Given the description of an element on the screen output the (x, y) to click on. 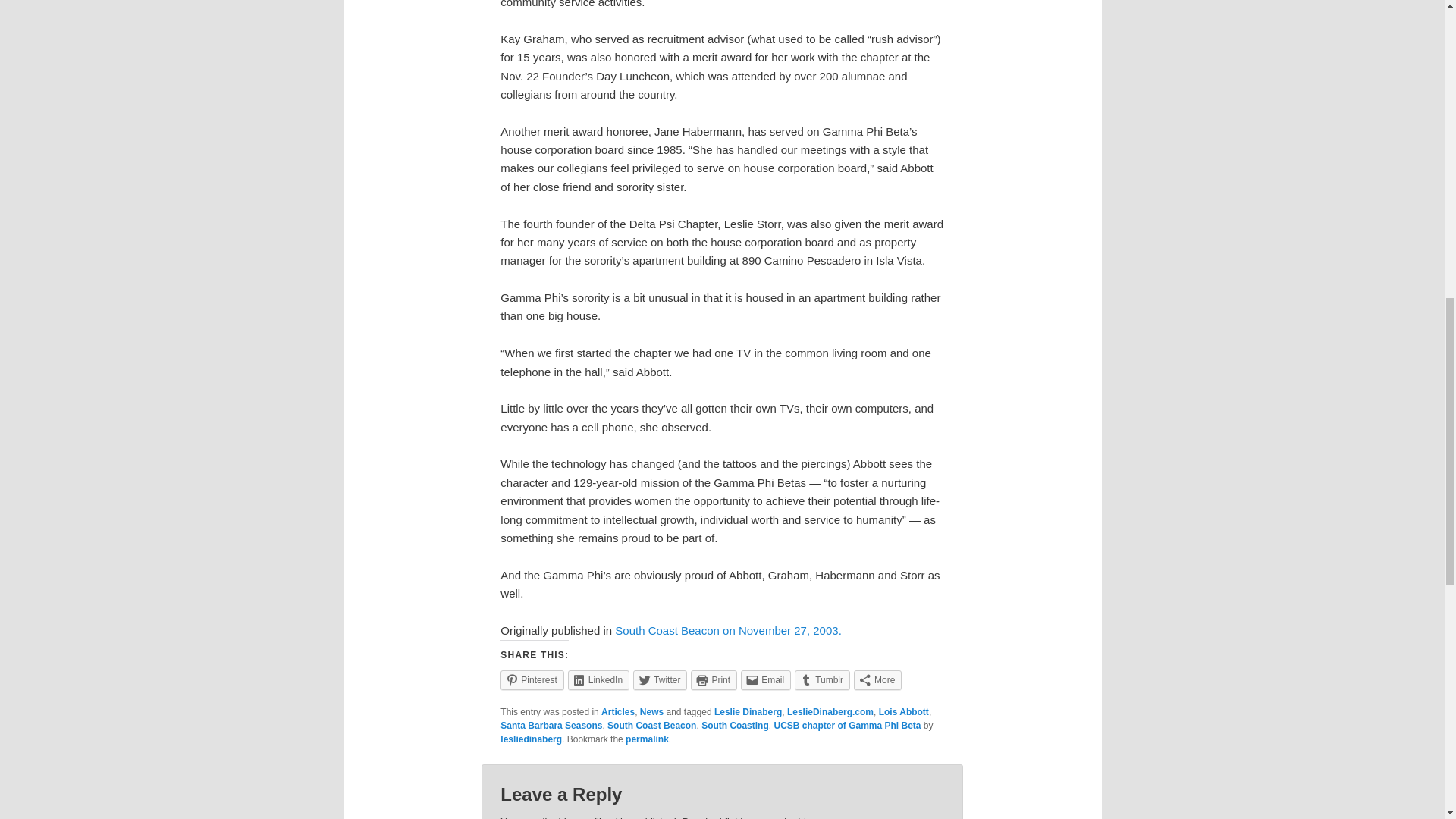
Twitter (660, 680)
Email (765, 680)
South Coasting (734, 725)
Lois Abbott (903, 711)
News (651, 711)
Santa Barbara Seasons (551, 725)
South Coast Beacon (651, 725)
Print (713, 680)
Click to print (713, 680)
Permalink to Gamma Phis shine (647, 738)
Leslie Dinaberg (747, 711)
More (877, 680)
Click to share on Pinterest (531, 680)
permalink (647, 738)
Click to share on Tumblr (822, 680)
